Given the description of an element on the screen output the (x, y) to click on. 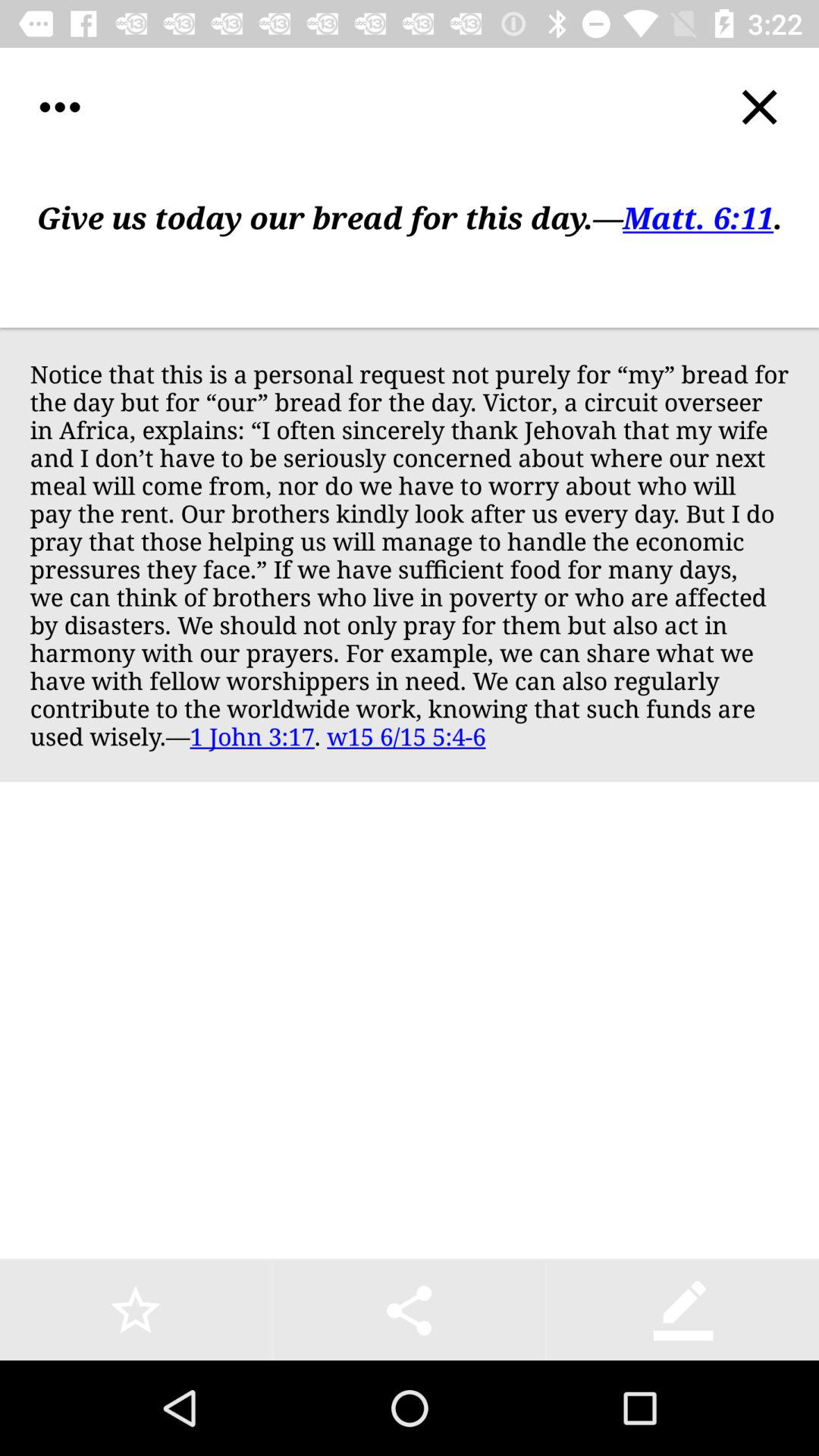
turn on notice that this app (409, 554)
